Given the description of an element on the screen output the (x, y) to click on. 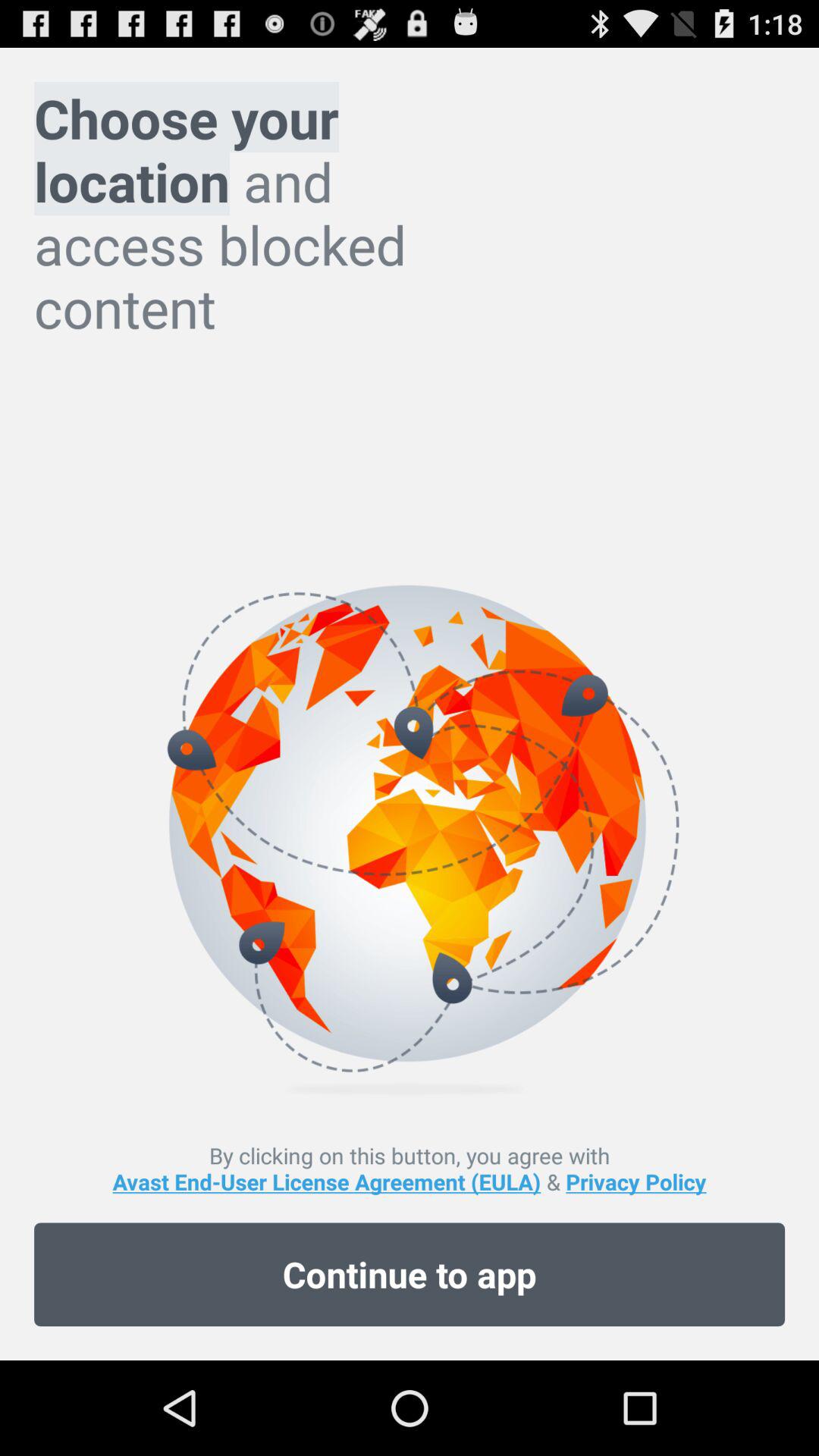
press continue to app item (409, 1274)
